Given the description of an element on the screen output the (x, y) to click on. 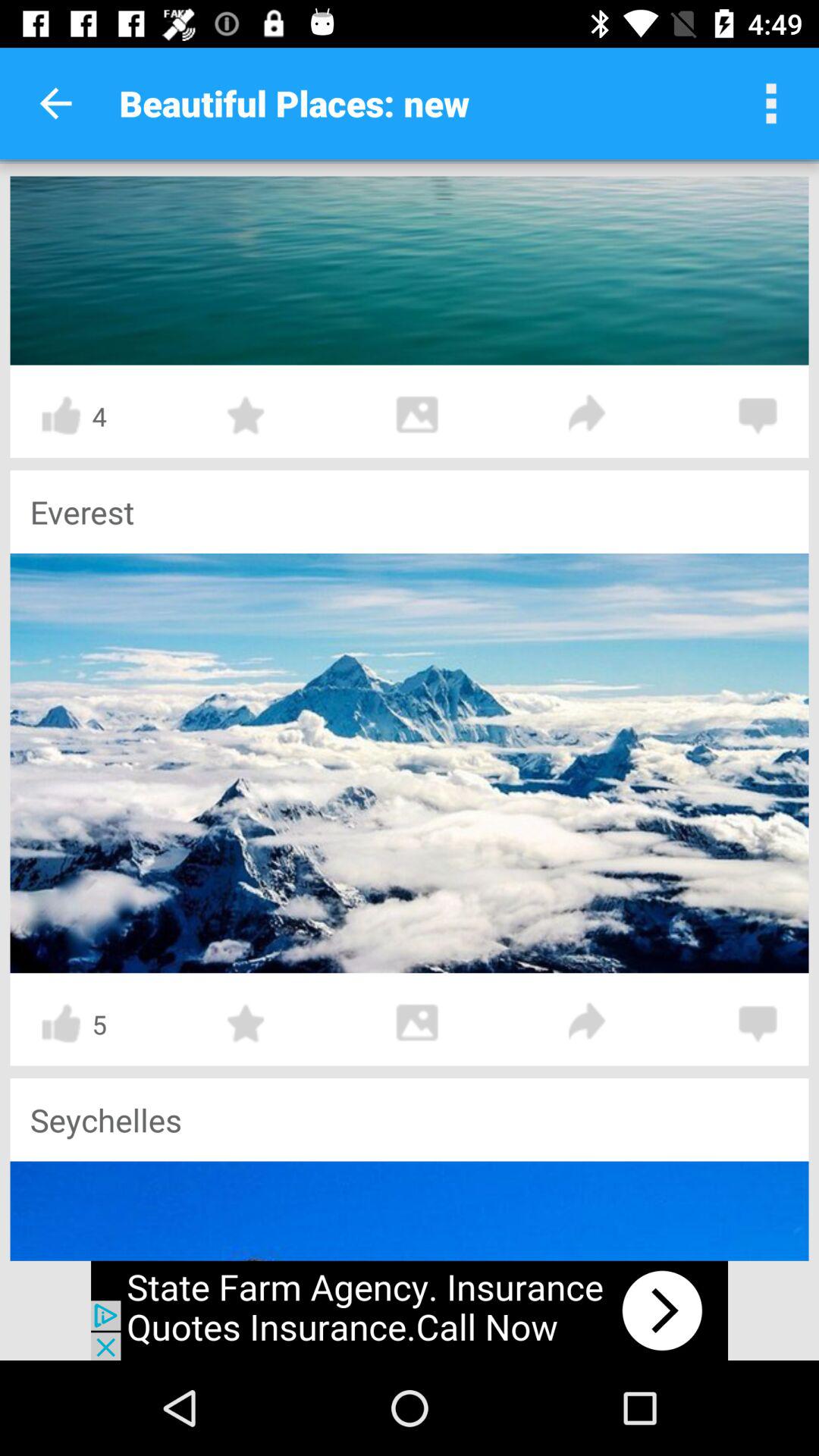
go to like (61, 415)
